Given the description of an element on the screen output the (x, y) to click on. 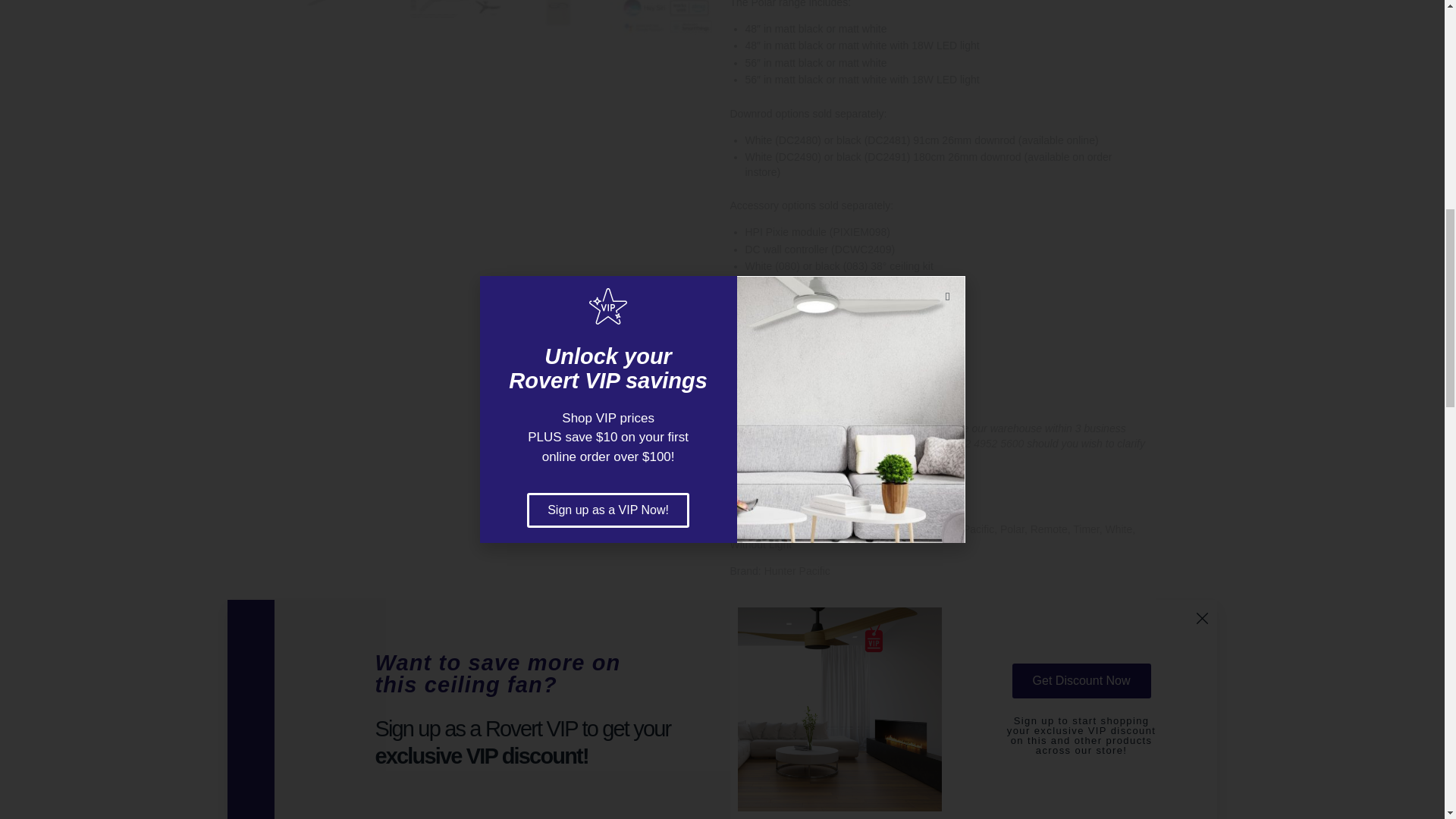
Pixiea (662, 19)
1 (748, 390)
Hunter Pac DC 9 Speed Remote (558, 19)
Polar Info Sheet (453, 19)
P3B2571 (349, 19)
